Given the description of an element on the screen output the (x, y) to click on. 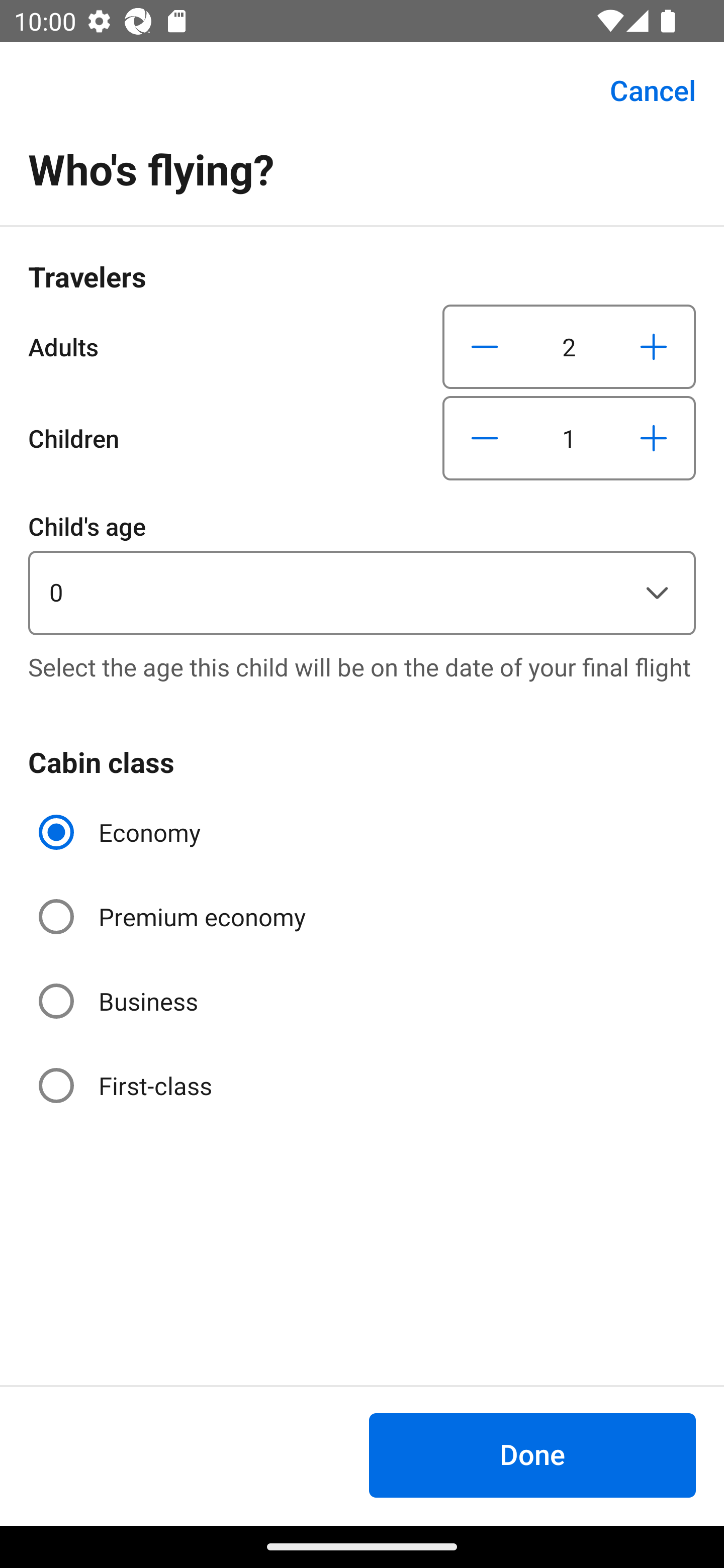
Cancel (641, 90)
Decrease (484, 346)
Increase (653, 346)
Decrease (484, 437)
Increase (653, 437)
Child's age
 Child's age 0 (361, 571)
Economy (121, 832)
Premium economy (174, 916)
Business (120, 1000)
First-class (126, 1084)
Done (532, 1454)
